Given the description of an element on the screen output the (x, y) to click on. 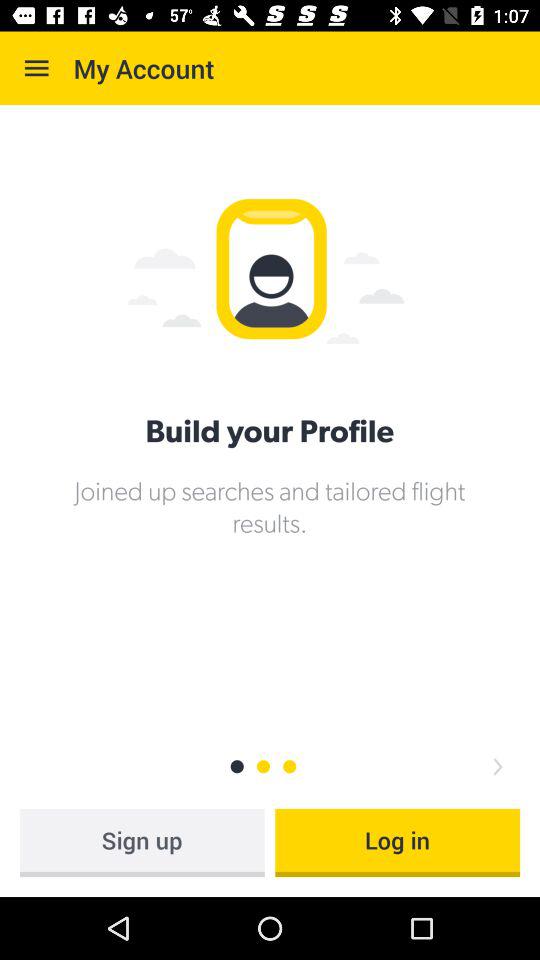
turn off the icon to the right of the sign up (397, 842)
